Given the description of an element on the screen output the (x, y) to click on. 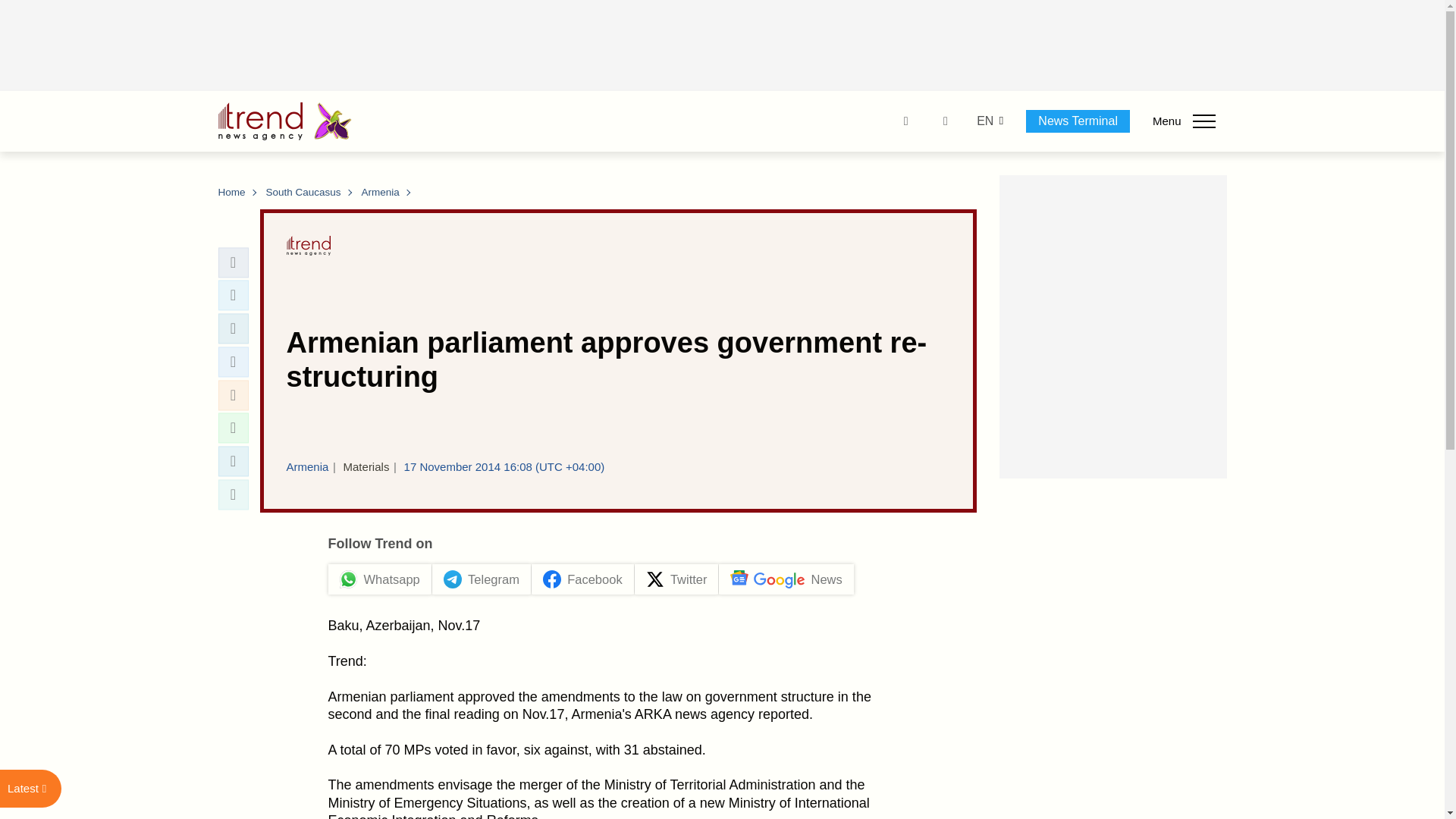
EN (984, 121)
News Terminal (1077, 120)
English (984, 121)
